Given the description of an element on the screen output the (x, y) to click on. 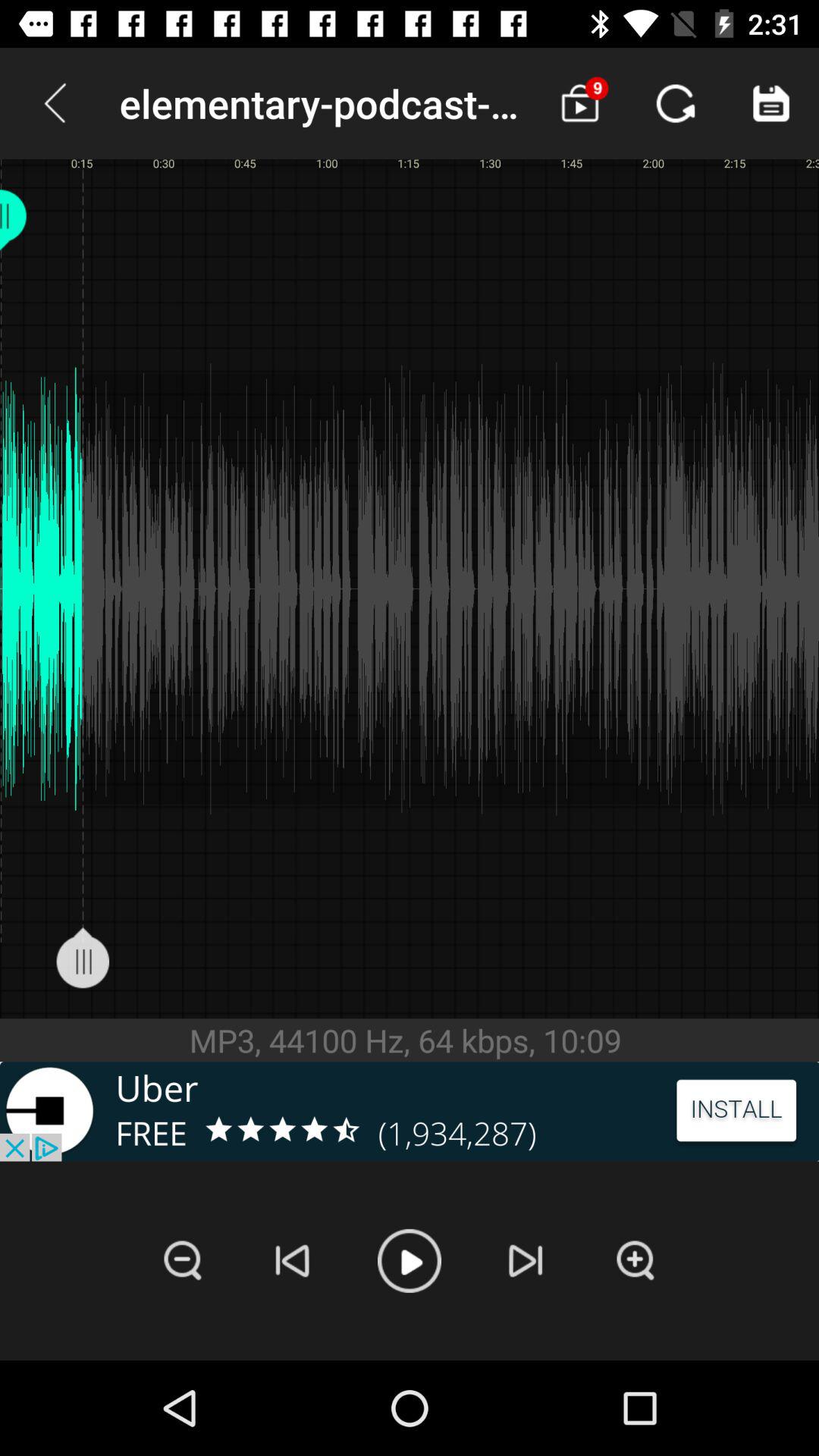
increase volume (635, 1260)
